Given the description of an element on the screen output the (x, y) to click on. 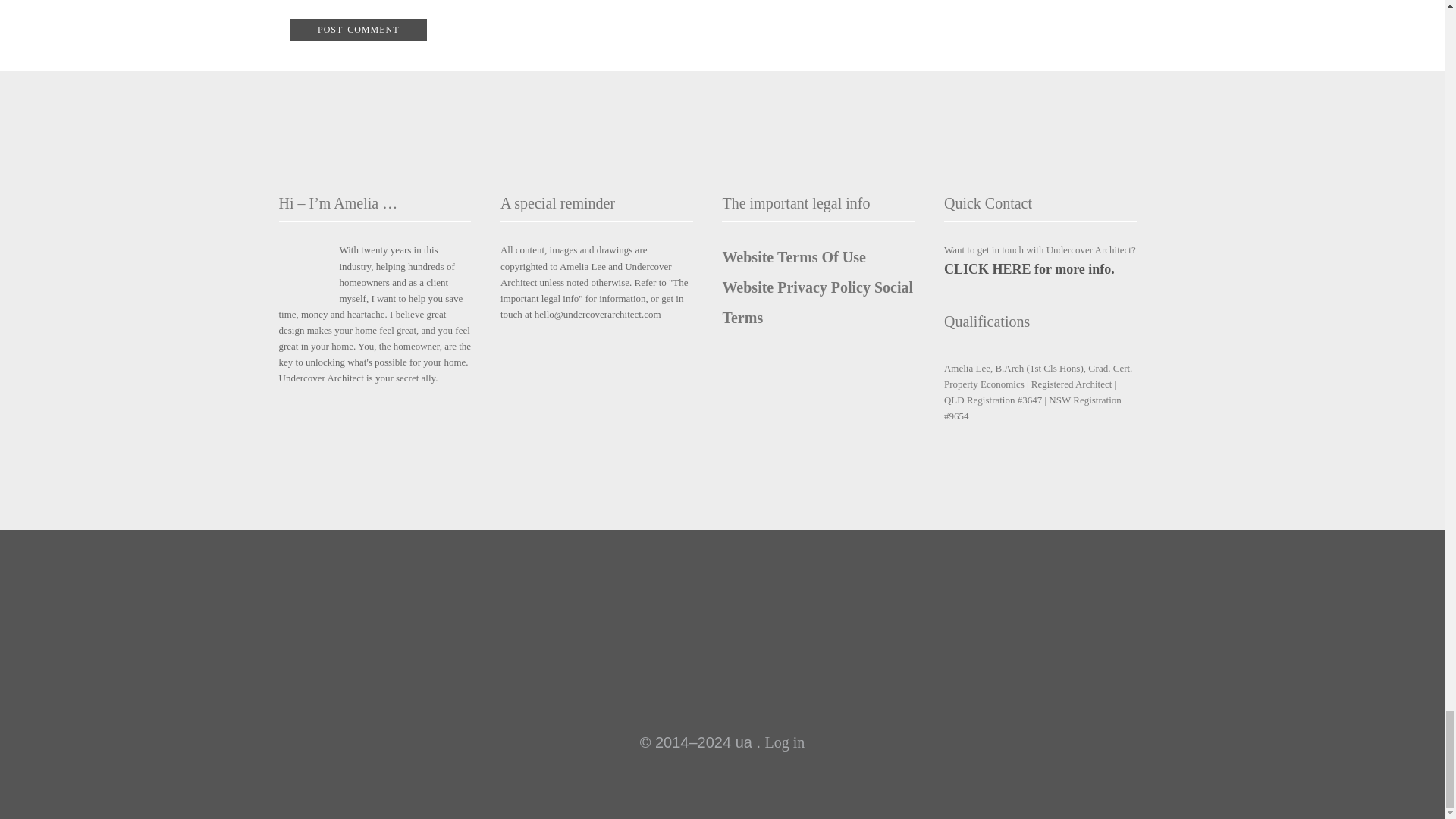
Post Comment (357, 29)
Undercover Architect (722, 673)
